Given the description of an element on the screen output the (x, y) to click on. 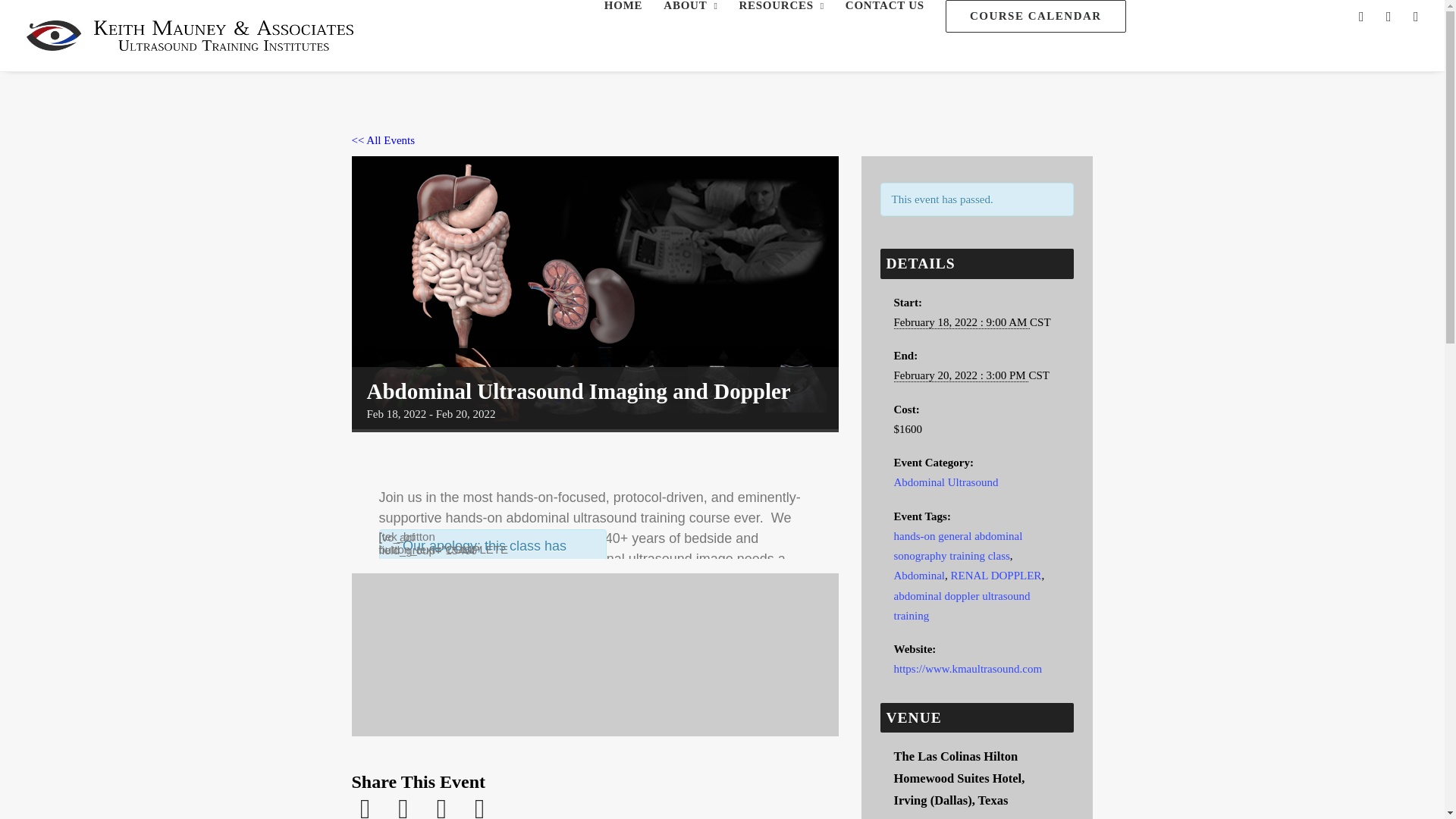
Email (441, 806)
Abdominal (918, 575)
Facebook (368, 806)
RENAL DOPPLER (996, 575)
COURSE CALENDAR (1035, 16)
HOME (623, 5)
Abdominal Ultrasound (945, 481)
RESOURCES (781, 5)
HOME (623, 5)
RESOURCES (781, 5)
